Given the description of an element on the screen output the (x, y) to click on. 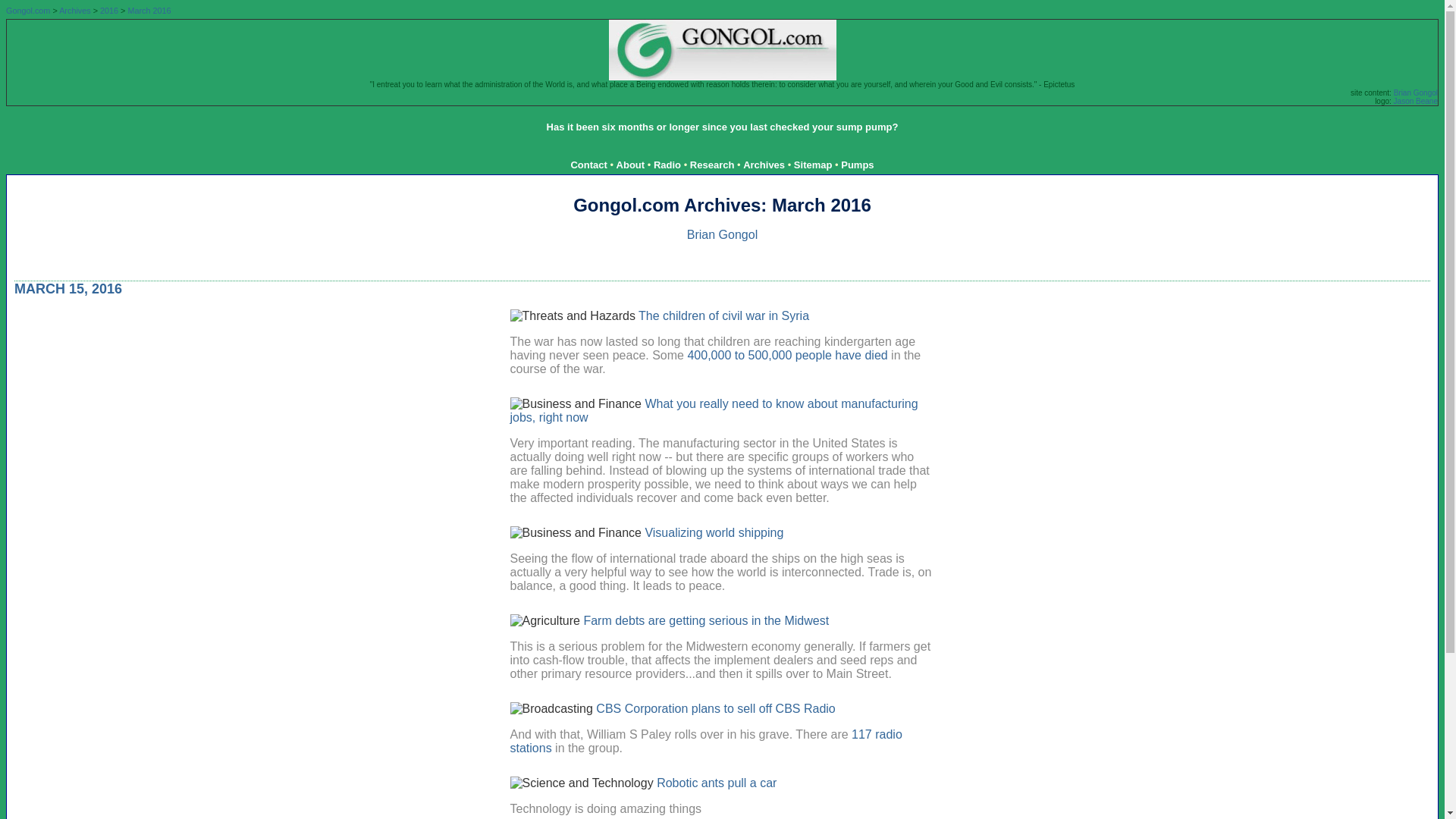
Sitemap (812, 164)
Research (712, 164)
Contact (588, 164)
Pumps (857, 164)
Farm debts are getting serious in the Midwest (705, 620)
Archives (763, 164)
Robotic ants pull a car (716, 782)
MARCH 15, 2016 (68, 288)
CBS Corporation plans to sell off CBS Radio (714, 707)
